Given the description of an element on the screen output the (x, y) to click on. 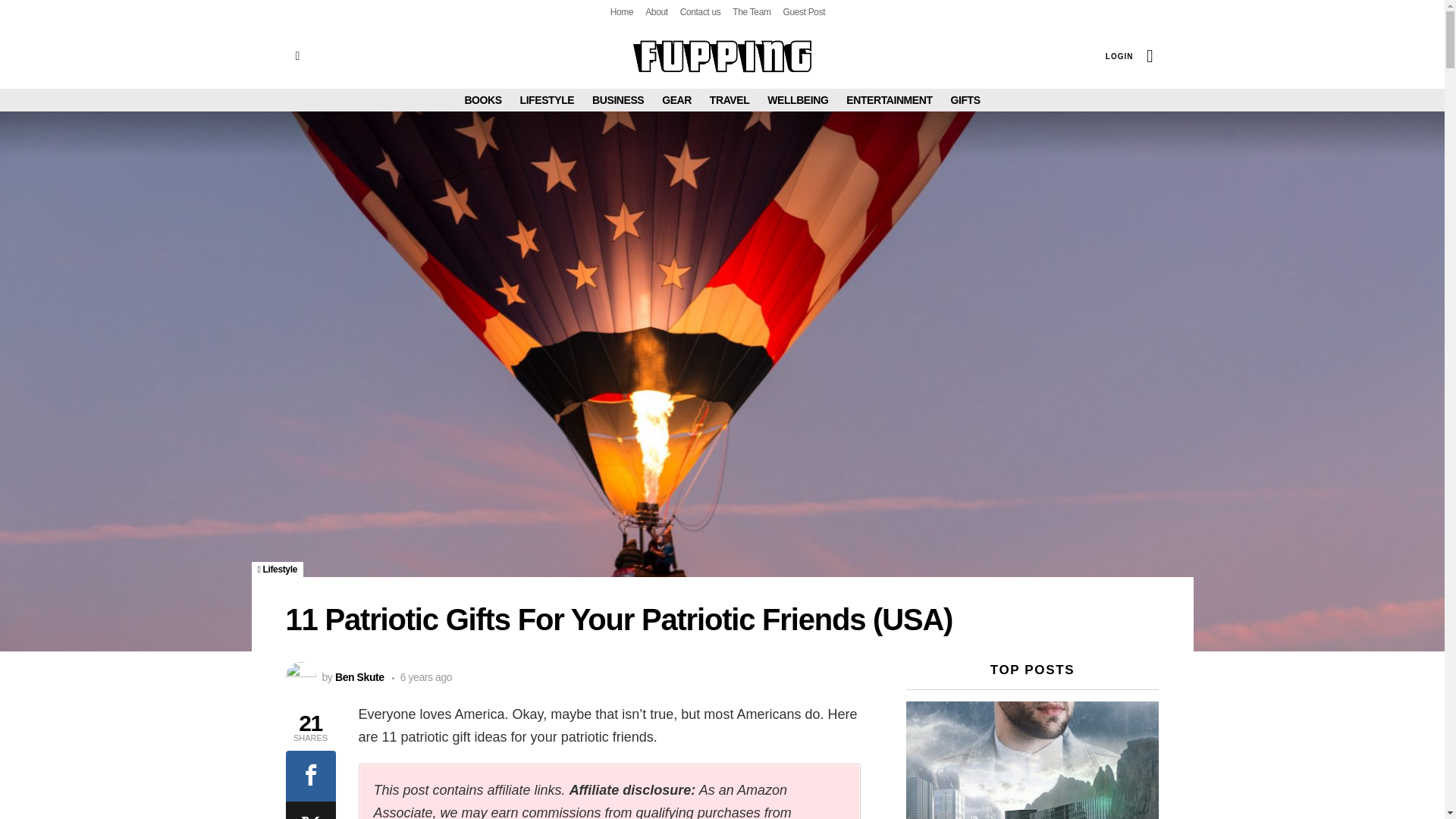
Home (621, 12)
Menu (296, 55)
September 28, 2018, 9:07 am (421, 676)
BOOKS (482, 99)
About (656, 12)
LIFESTYLE (547, 99)
Contact us (699, 12)
The Team (751, 12)
Posts by Ben Skute (359, 676)
Ben Skute (359, 676)
BUSINESS (617, 99)
WELLBEING (797, 99)
ENTERTAINMENT (888, 99)
LOGIN (1119, 56)
TRAVEL (729, 99)
